Given the description of an element on the screen output the (x, y) to click on. 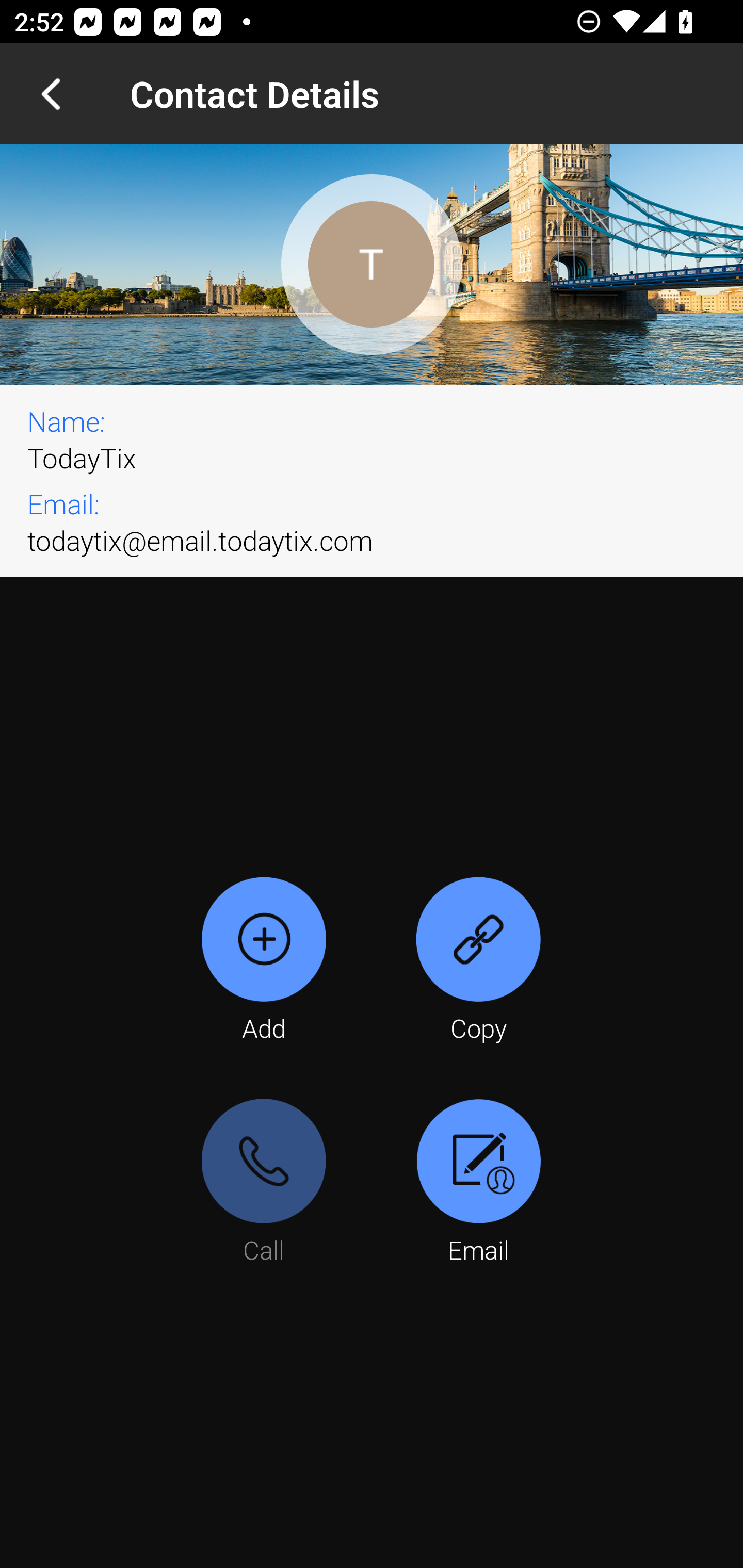
Navigate up (50, 93)
Add (264, 961)
Copy (478, 961)
Call (264, 1182)
Email (478, 1182)
